Given the description of an element on the screen output the (x, y) to click on. 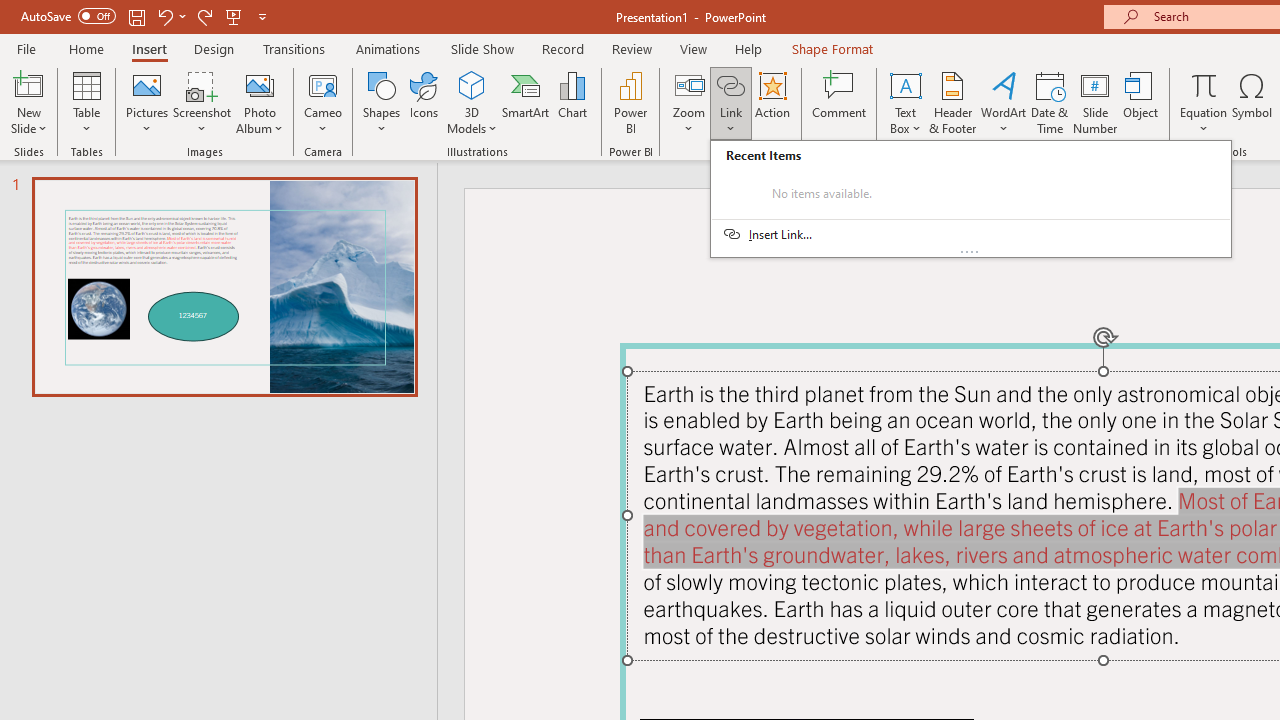
Comment (839, 102)
Table (86, 102)
SmartArt... (525, 102)
Draw Horizontal Text Box (905, 84)
Header & Footer... (952, 102)
Action (772, 102)
L&ink (970, 198)
